Given the description of an element on the screen output the (x, y) to click on. 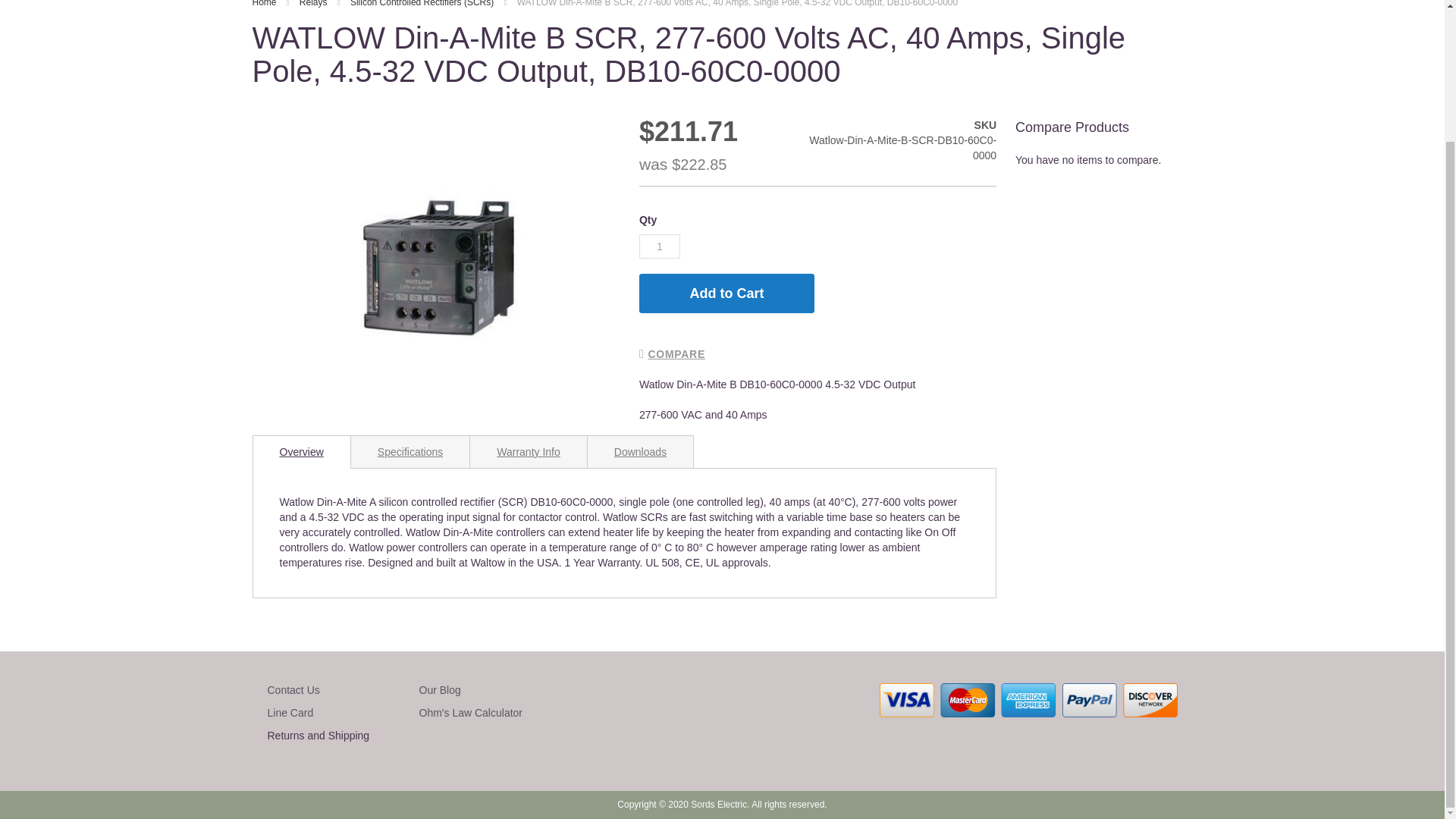
Relays (314, 3)
1 (659, 246)
Add to Cart (726, 292)
Go to Home Page (264, 3)
Qty (659, 246)
